Given the description of an element on the screen output the (x, y) to click on. 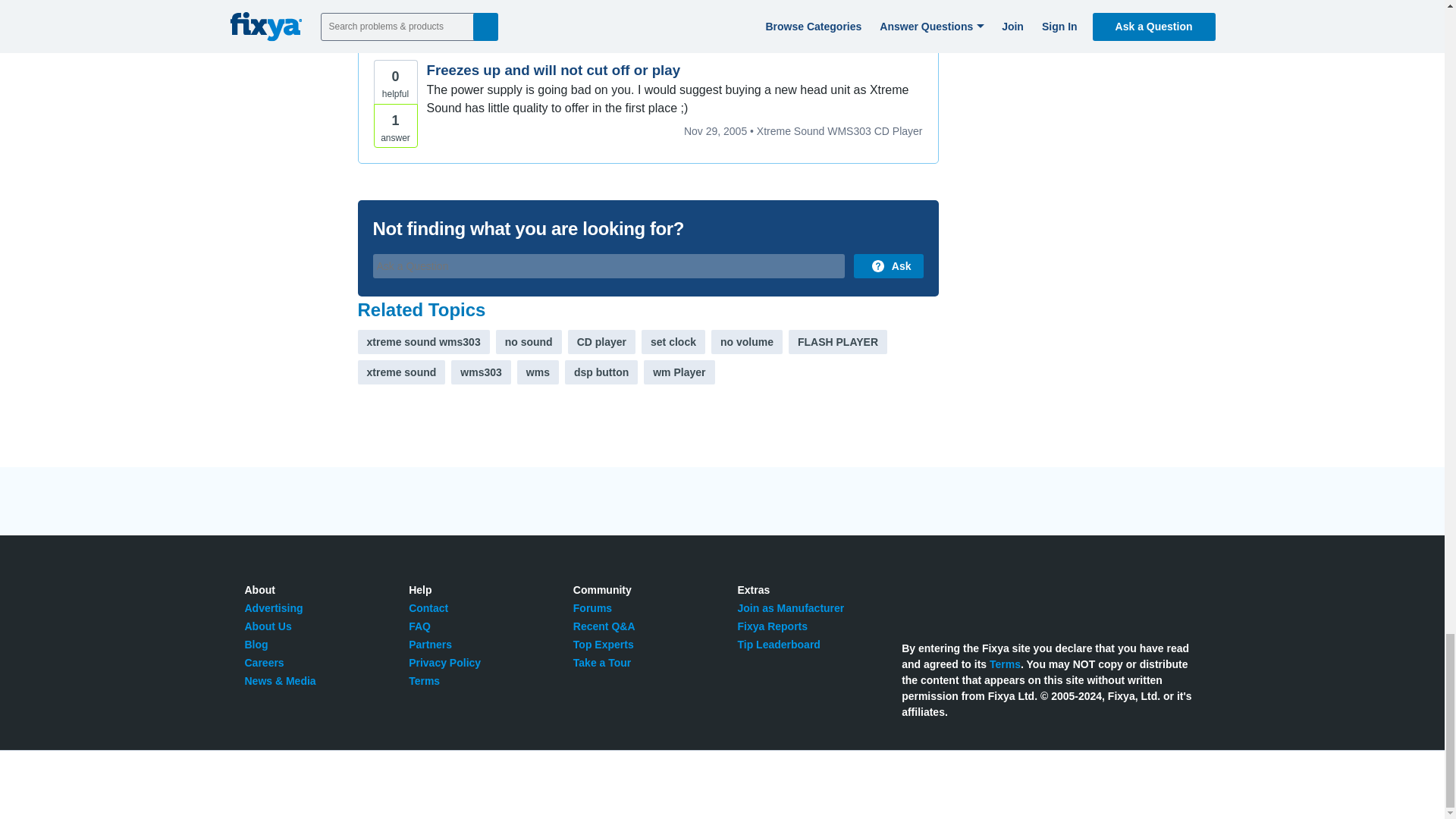
Ask (888, 265)
